Given the description of an element on the screen output the (x, y) to click on. 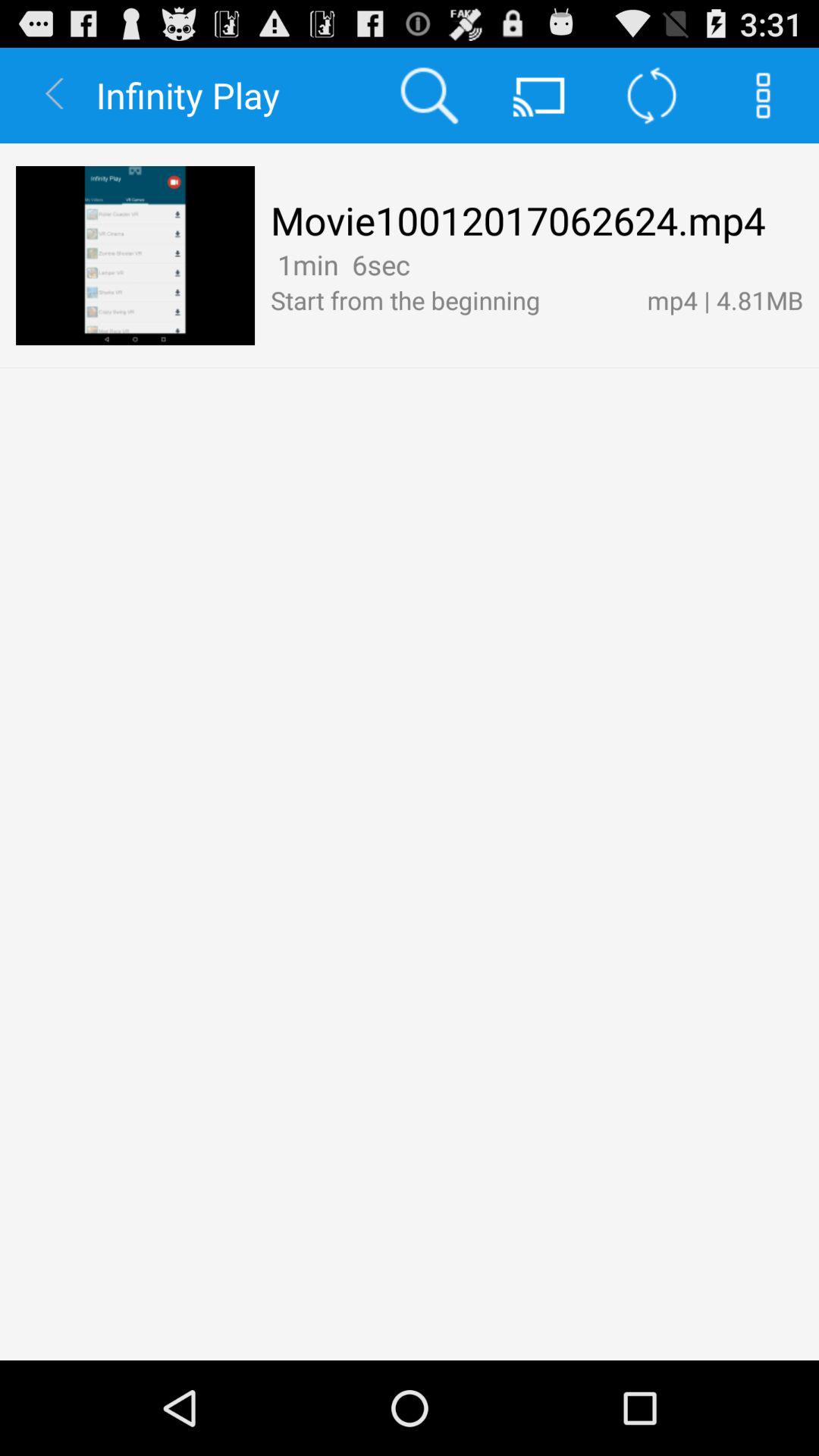
swipe to the  1min  6sec icon (340, 264)
